Given the description of an element on the screen output the (x, y) to click on. 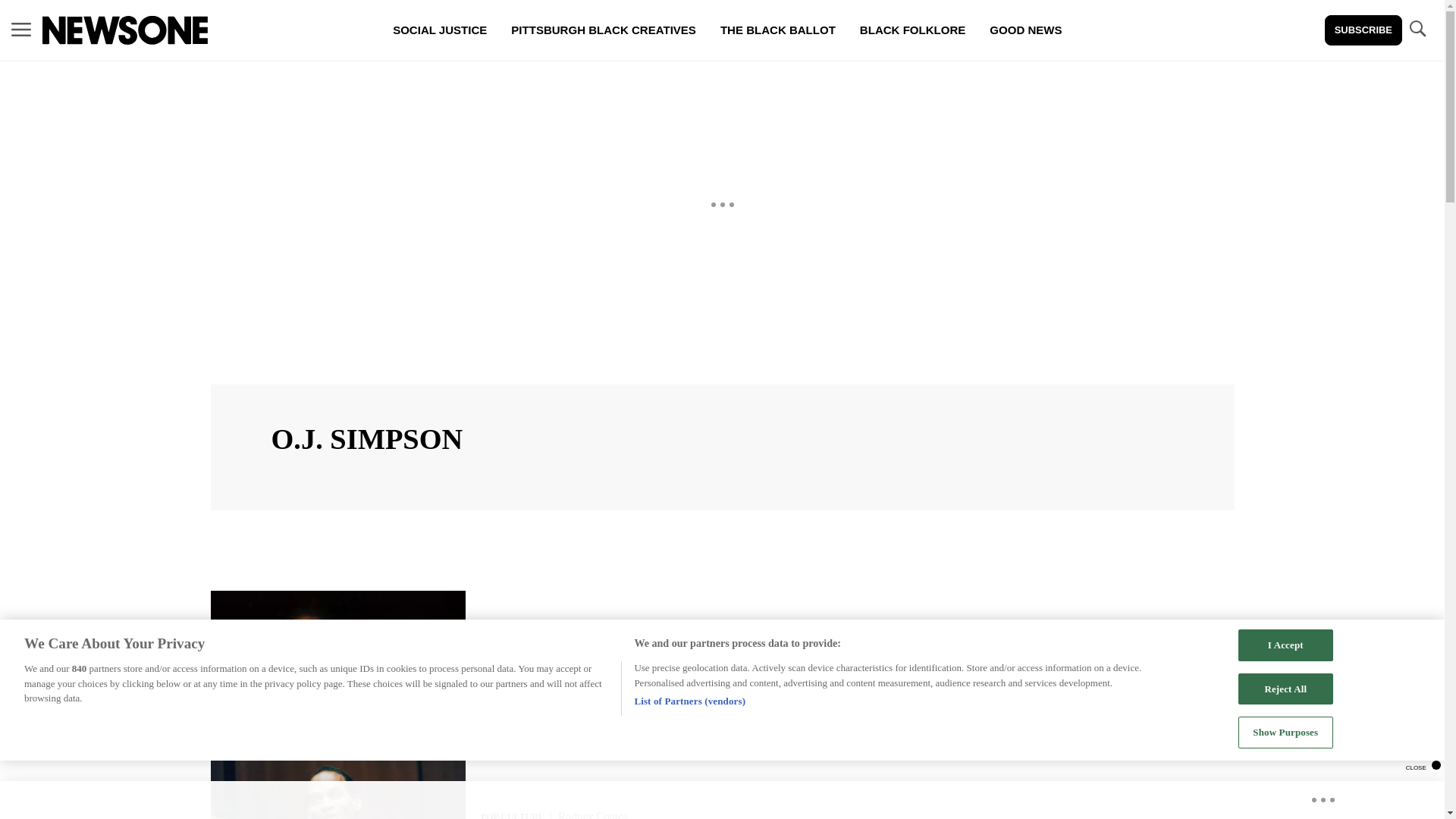
THE BLACK BALLOT (777, 30)
TOGGLE SEARCH (1417, 30)
BLACK FOLKLORE (911, 30)
NewsOne Staff (556, 640)
PITTSBURGH BLACK CREATIVES (603, 30)
SOCIAL JUSTICE (439, 30)
MENU (20, 29)
MENU (20, 30)
NEWS (493, 641)
GOOD NEWS (1025, 30)
5 Things Suggesting O.J. Got Away With Murder (639, 658)
POP CULTURE (512, 815)
SUBSCRIBE (1363, 30)
TOGGLE SEARCH (1417, 28)
